Given the description of an element on the screen output the (x, y) to click on. 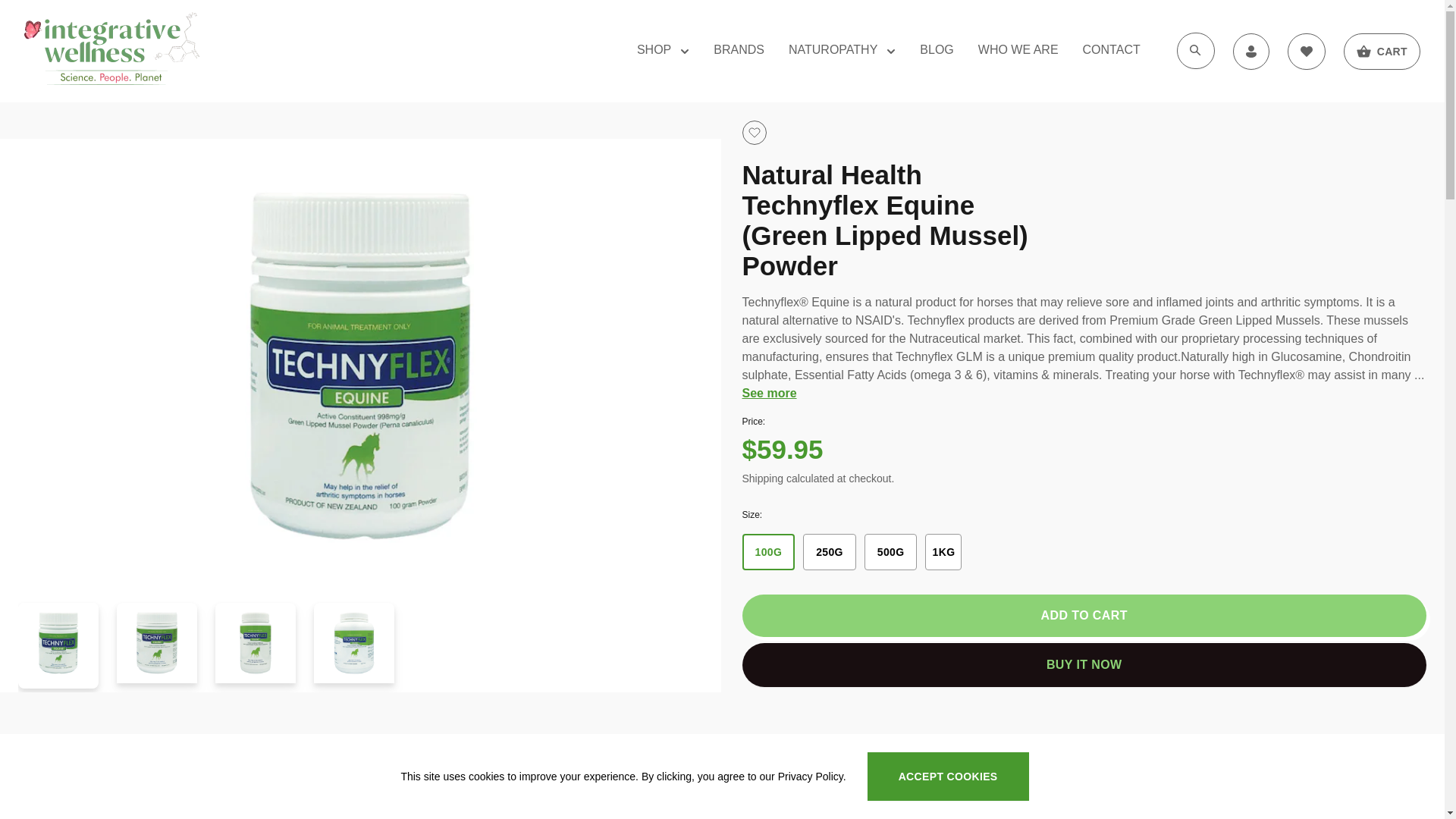
NATUROPATHY Element type: text (841, 51)
BRANDS Element type: text (738, 49)
1KG Element type: text (943, 551)
SHOP Element type: text (663, 51)
BUY IT NOW Element type: text (1083, 665)
CONTACT Element type: text (1111, 49)
500G Element type: text (890, 551)
100G Element type: text (767, 551)
250G Element type: text (829, 551)
BLOG Element type: text (936, 49)
ADD TO CART Element type: text (1083, 615)
ACCEPT COOKIES Element type: text (948, 776)
WHO WE ARE Element type: text (1018, 49)
